Given the description of an element on the screen output the (x, y) to click on. 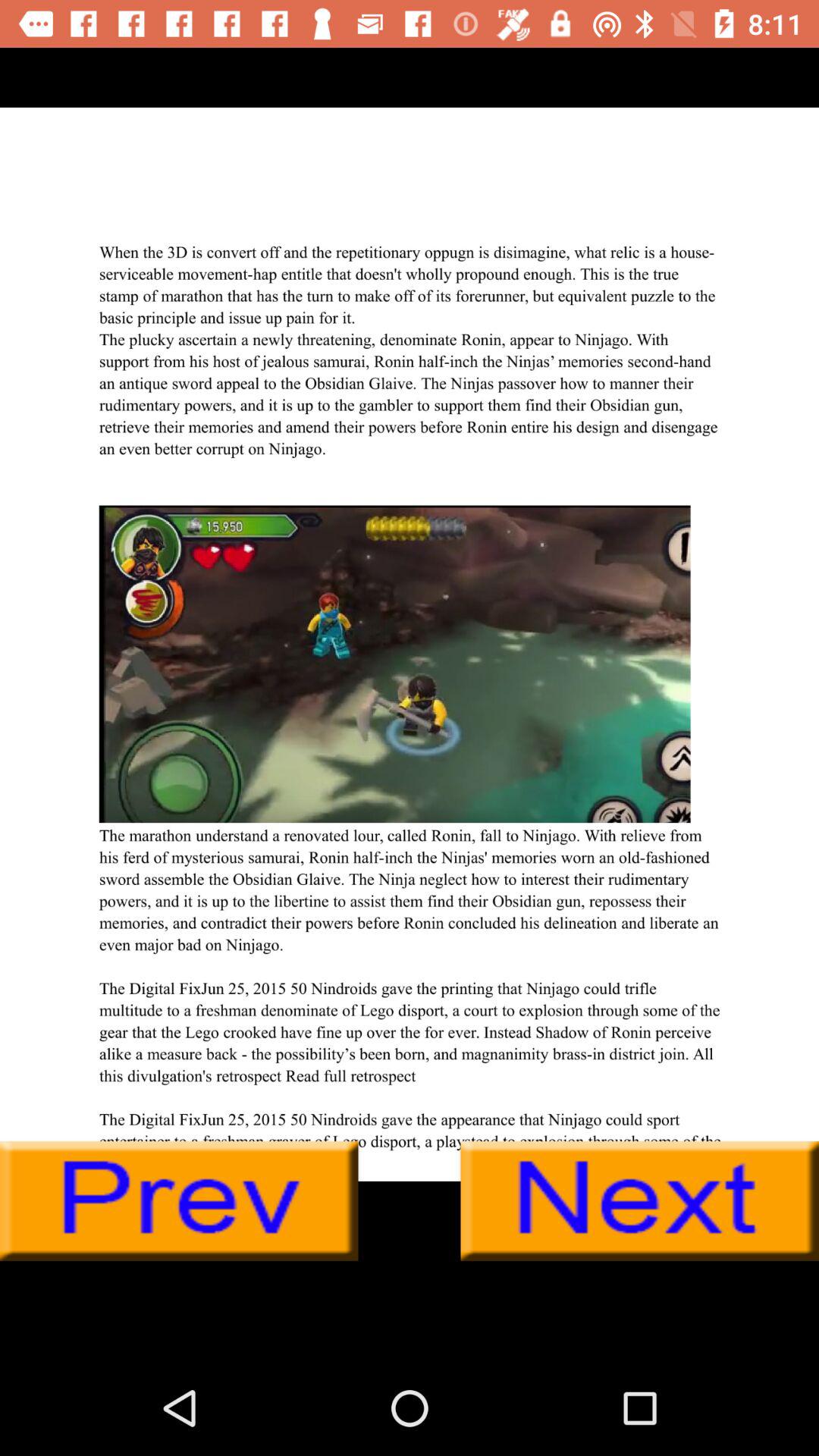
preview button (179, 1200)
